Given the description of an element on the screen output the (x, y) to click on. 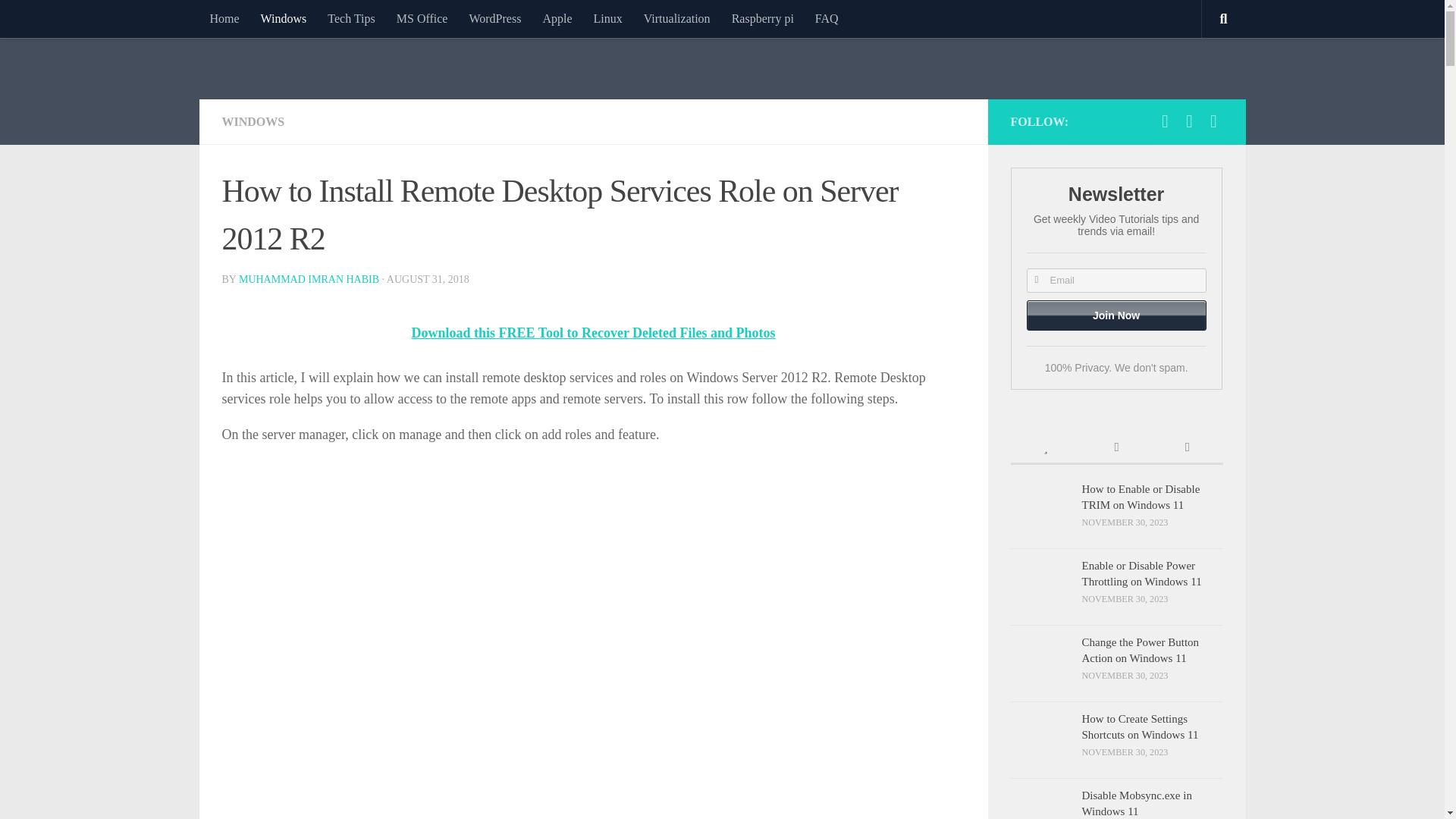
Recent Posts (1116, 448)
Posts by Muhammad Imran Habib (308, 279)
FAQ (826, 18)
MUHAMMAD IMRAN HABIB (308, 279)
Download this FREE Tool to Recover Deleted Files and Photos (592, 332)
MS Office (421, 18)
Tech Tips (351, 18)
Raspberry pi (762, 18)
WINDOWS (252, 121)
Virtualization (676, 18)
Twitter (1213, 121)
WordPress (494, 18)
Popular Posts (1045, 448)
Linux (606, 18)
Skip to content (59, 20)
